Given the description of an element on the screen output the (x, y) to click on. 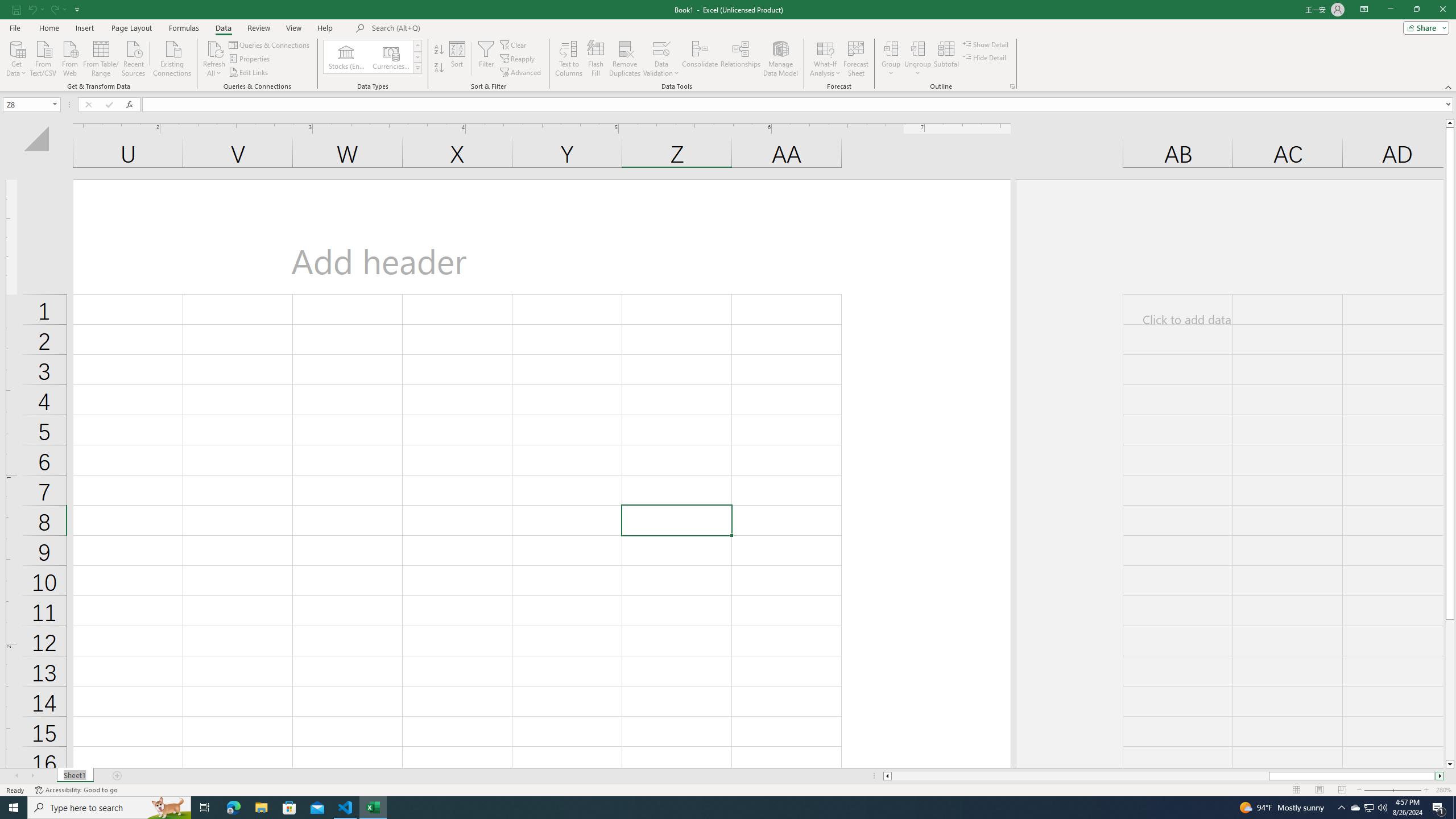
Show Detail (985, 44)
Filter (485, 58)
Consolidate... (700, 58)
AutomationID: ConvertToLinkedEntity (372, 56)
Class: NetUIScrollBar (1163, 775)
Data Types (417, 67)
Data Validation... (661, 58)
Scroll Right (32, 775)
Accessibility Checker Accessibility: Good to go (76, 790)
Sort Z to A (438, 67)
Minimize (1390, 9)
Stocks (English) (346, 56)
Currencies (English) (390, 56)
System (6, 6)
Close (1442, 9)
